Given the description of an element on the screen output the (x, y) to click on. 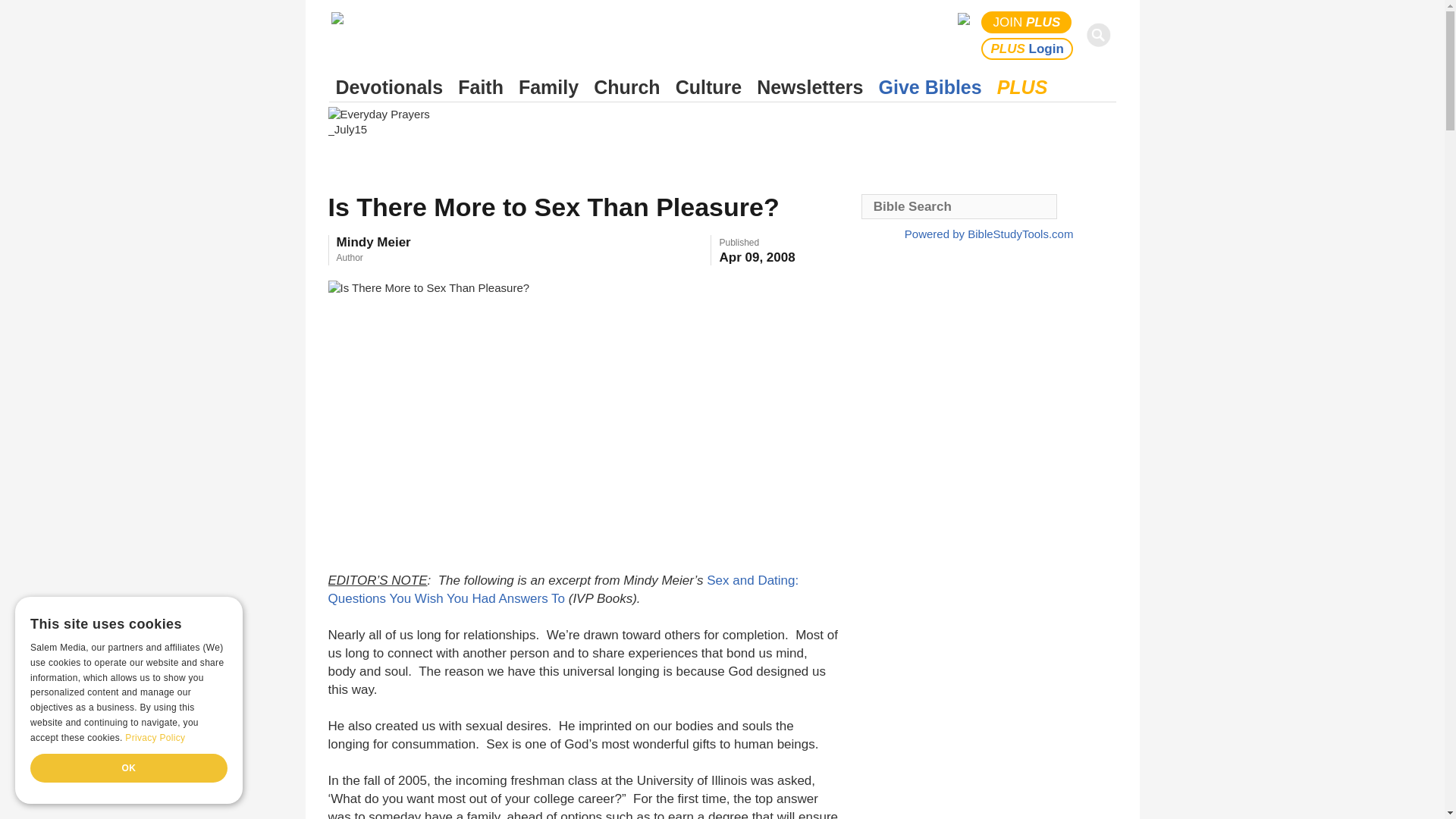
Search (1101, 34)
Join Plus (1026, 22)
Plus Login (1026, 48)
Devotionals (389, 87)
JOIN PLUS (1026, 22)
PLUS Login (1026, 48)
